Given the description of an element on the screen output the (x, y) to click on. 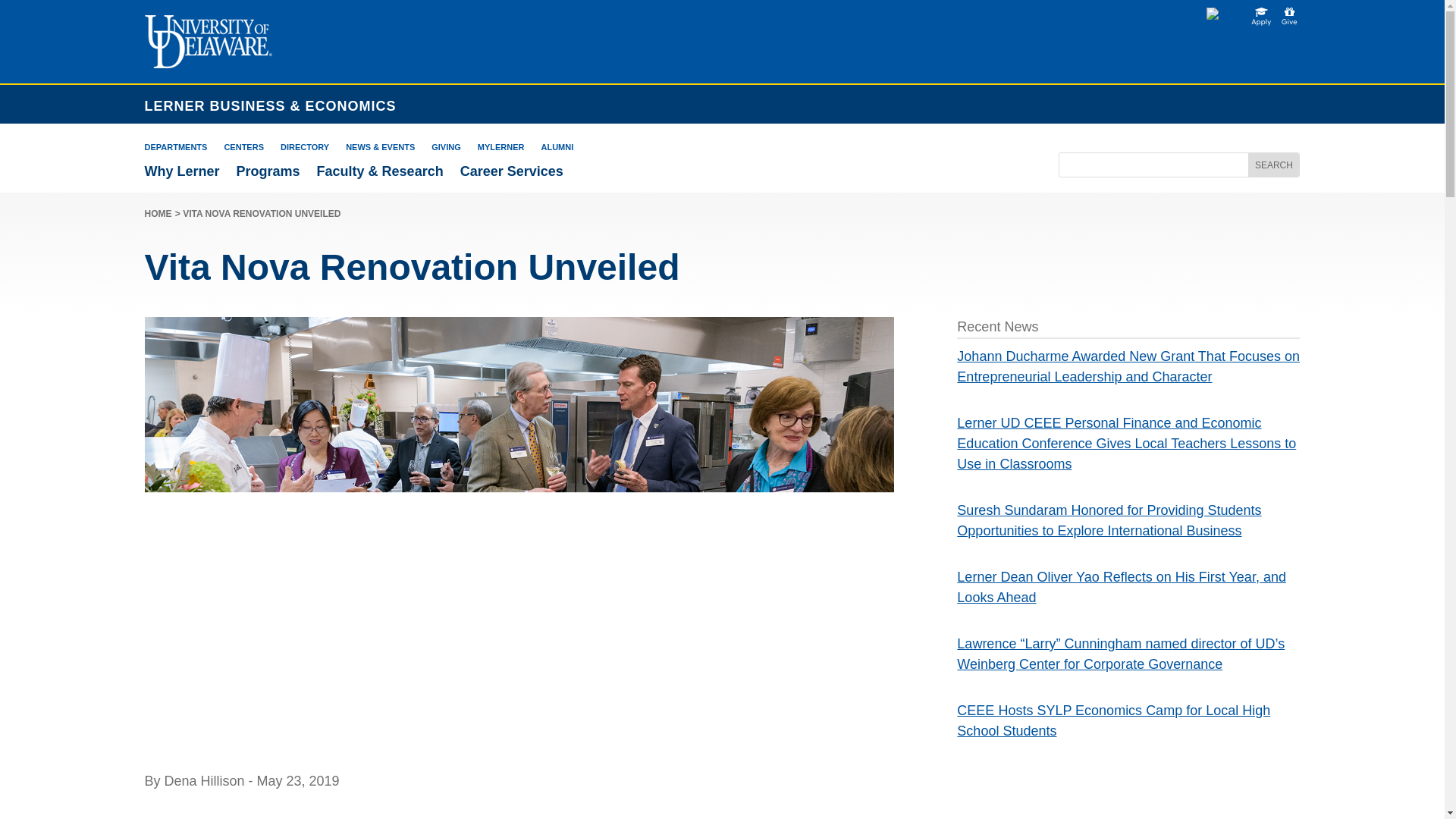
Why Lerner (181, 171)
Apply (1260, 16)
Visit (1225, 16)
Give (1289, 16)
Search (1272, 164)
Programs (267, 171)
University of Delaware (207, 41)
Search (1272, 164)
